Given the description of an element on the screen output the (x, y) to click on. 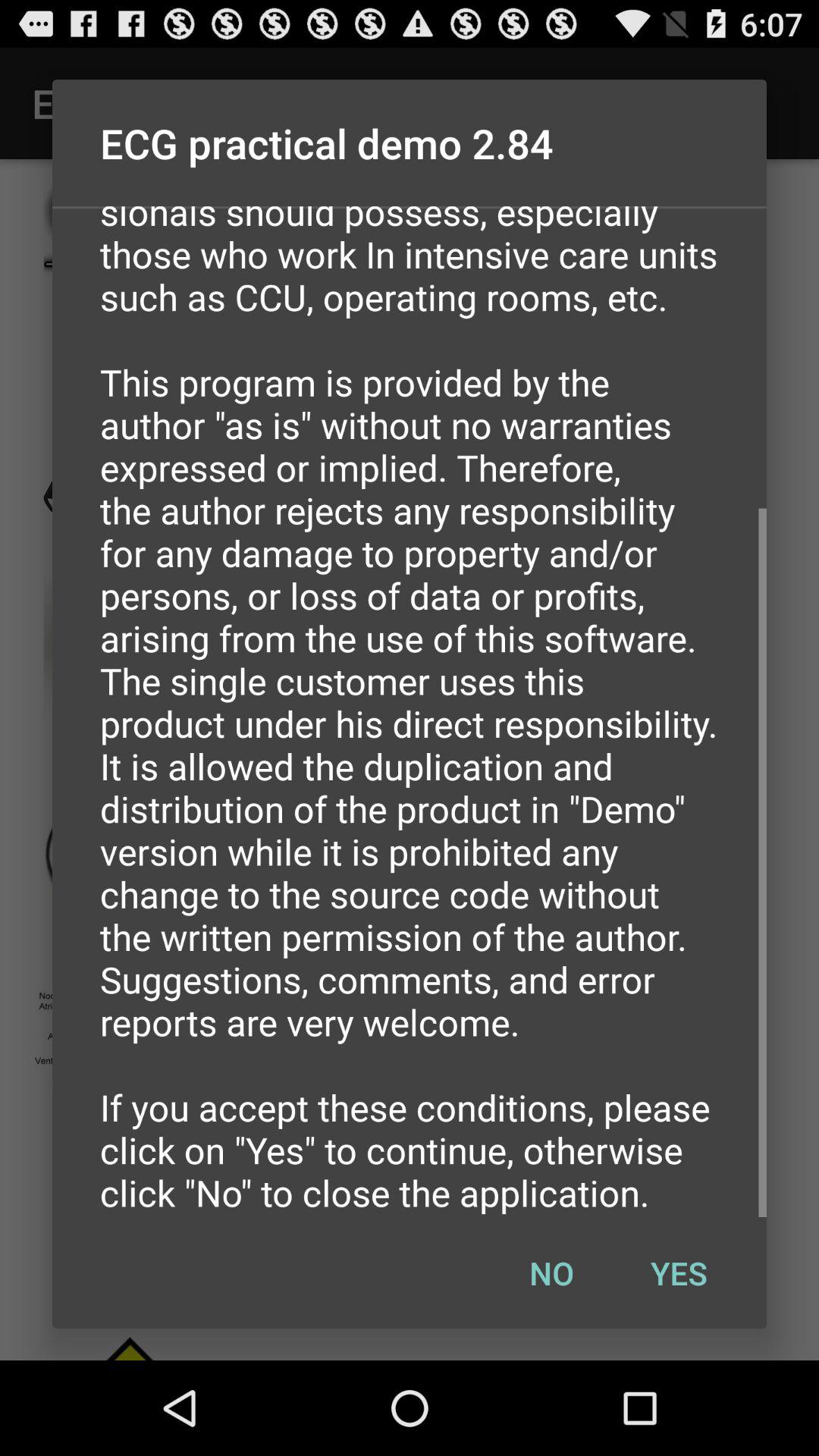
turn on icon to the left of yes item (551, 1272)
